Given the description of an element on the screen output the (x, y) to click on. 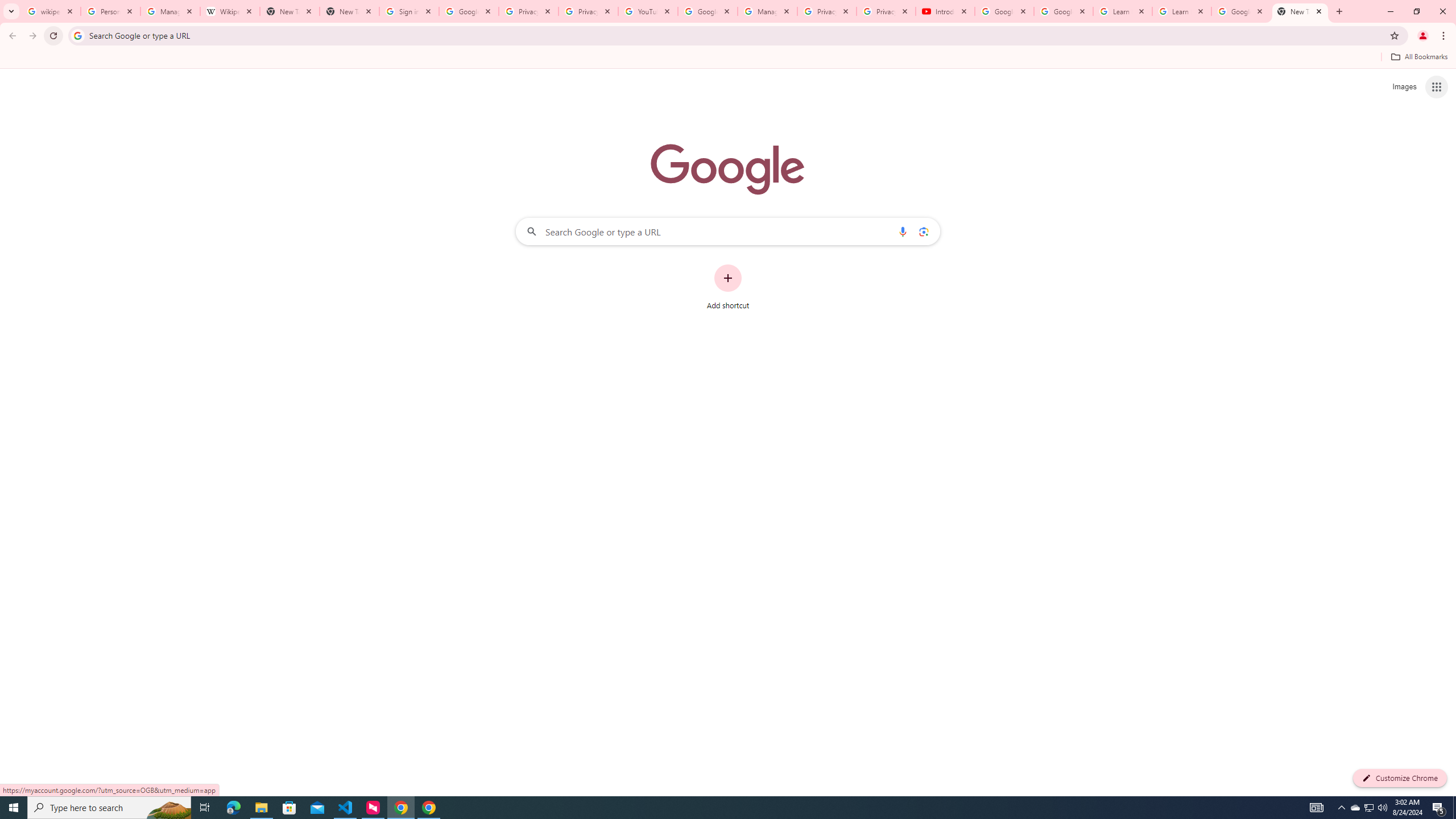
Google Account Help (707, 11)
Introduction | Google Privacy Policy - YouTube (944, 11)
